Given the description of an element on the screen output the (x, y) to click on. 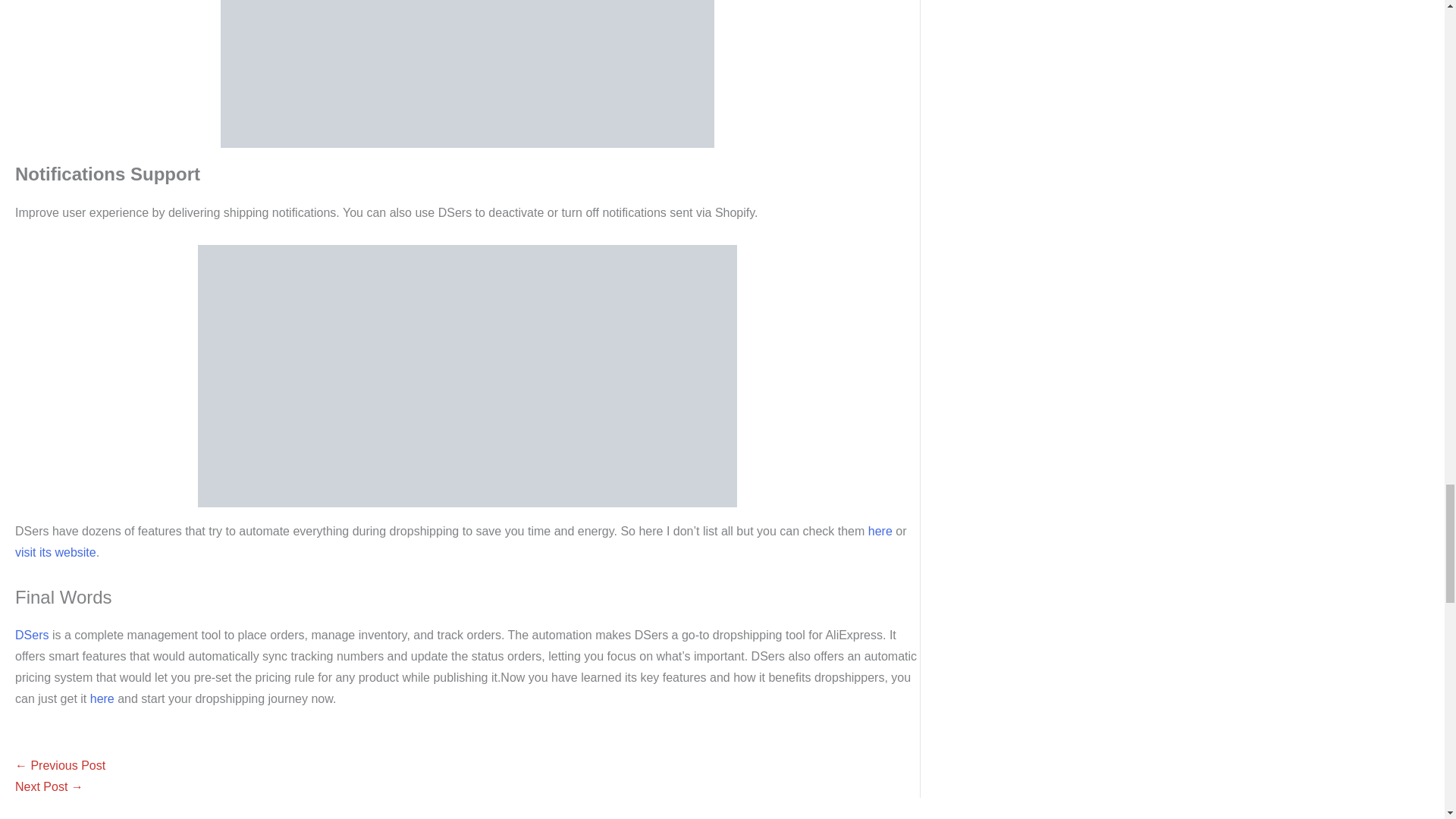
here (877, 530)
here (99, 698)
5 Ways to use Google Trends for Content Marketing (48, 786)
visit its website (55, 552)
DSers (31, 634)
Product Grouping and Pricing Models (467, 74)
